Given the description of an element on the screen output the (x, y) to click on. 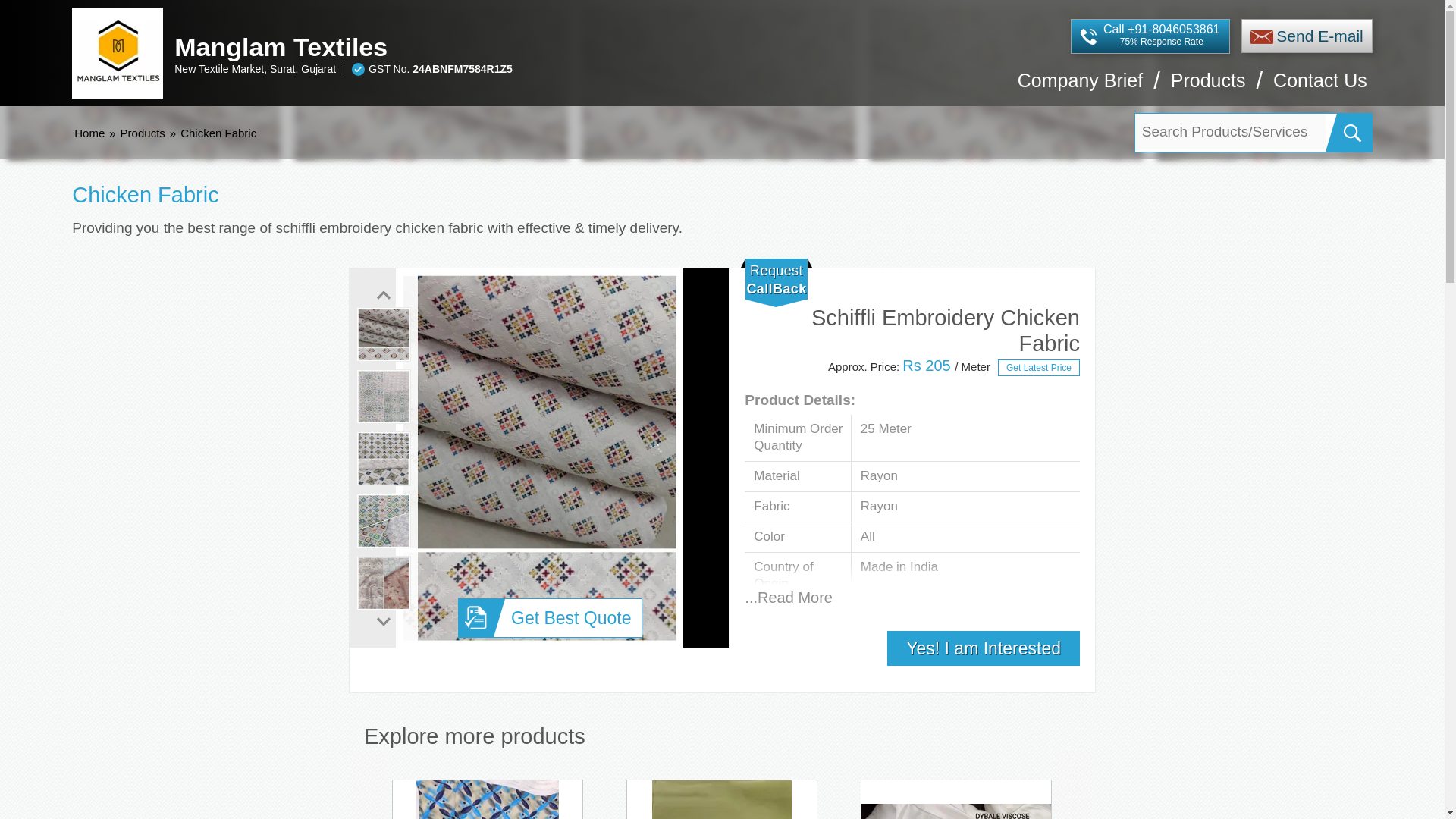
Products (142, 132)
Products (1208, 88)
Home (89, 132)
Contact Us (1319, 88)
Manglam Textiles (512, 46)
Company Brief (1079, 88)
